Given the description of an element on the screen output the (x, y) to click on. 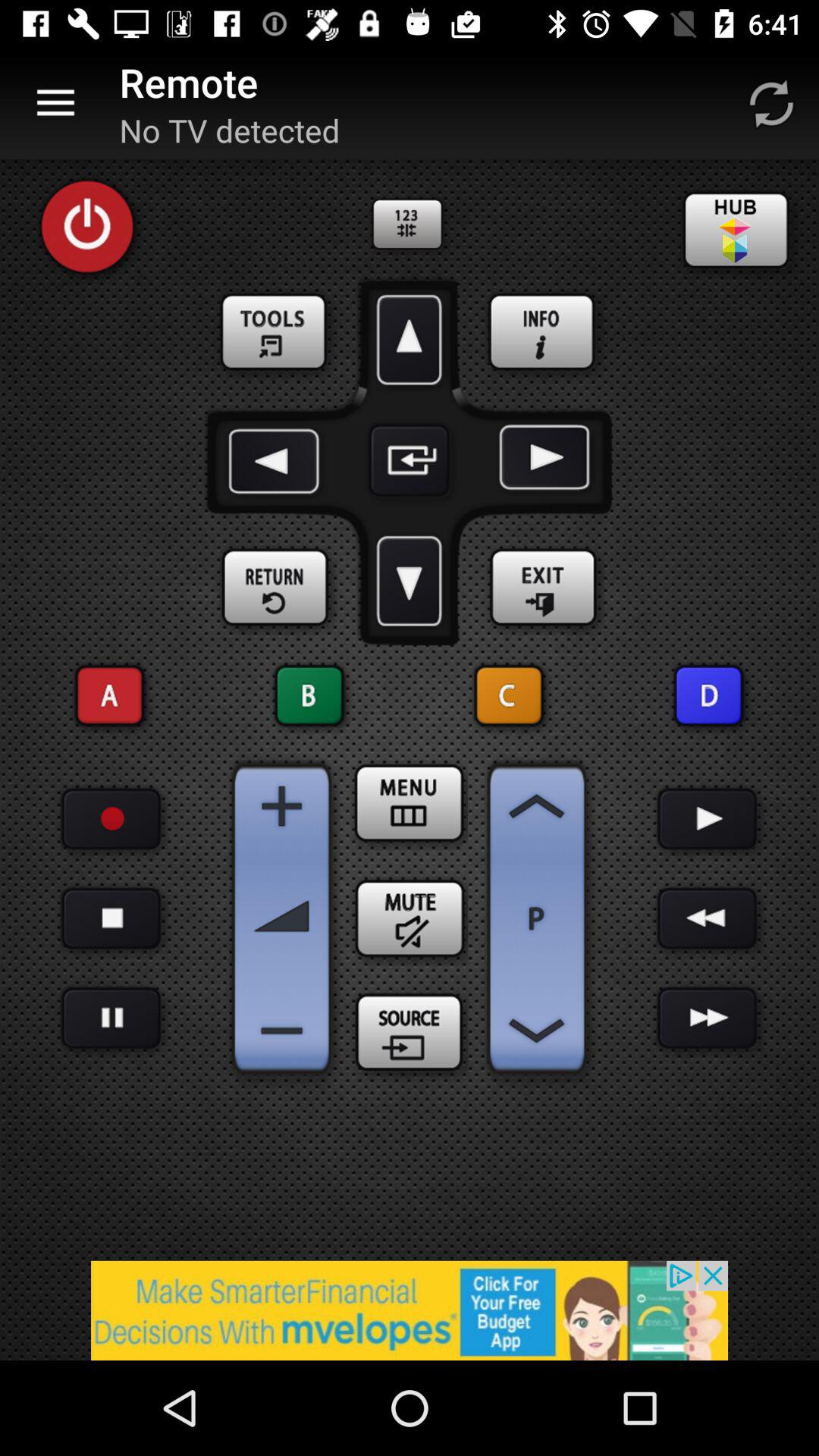
scroll up (536, 806)
